Given the description of an element on the screen output the (x, y) to click on. 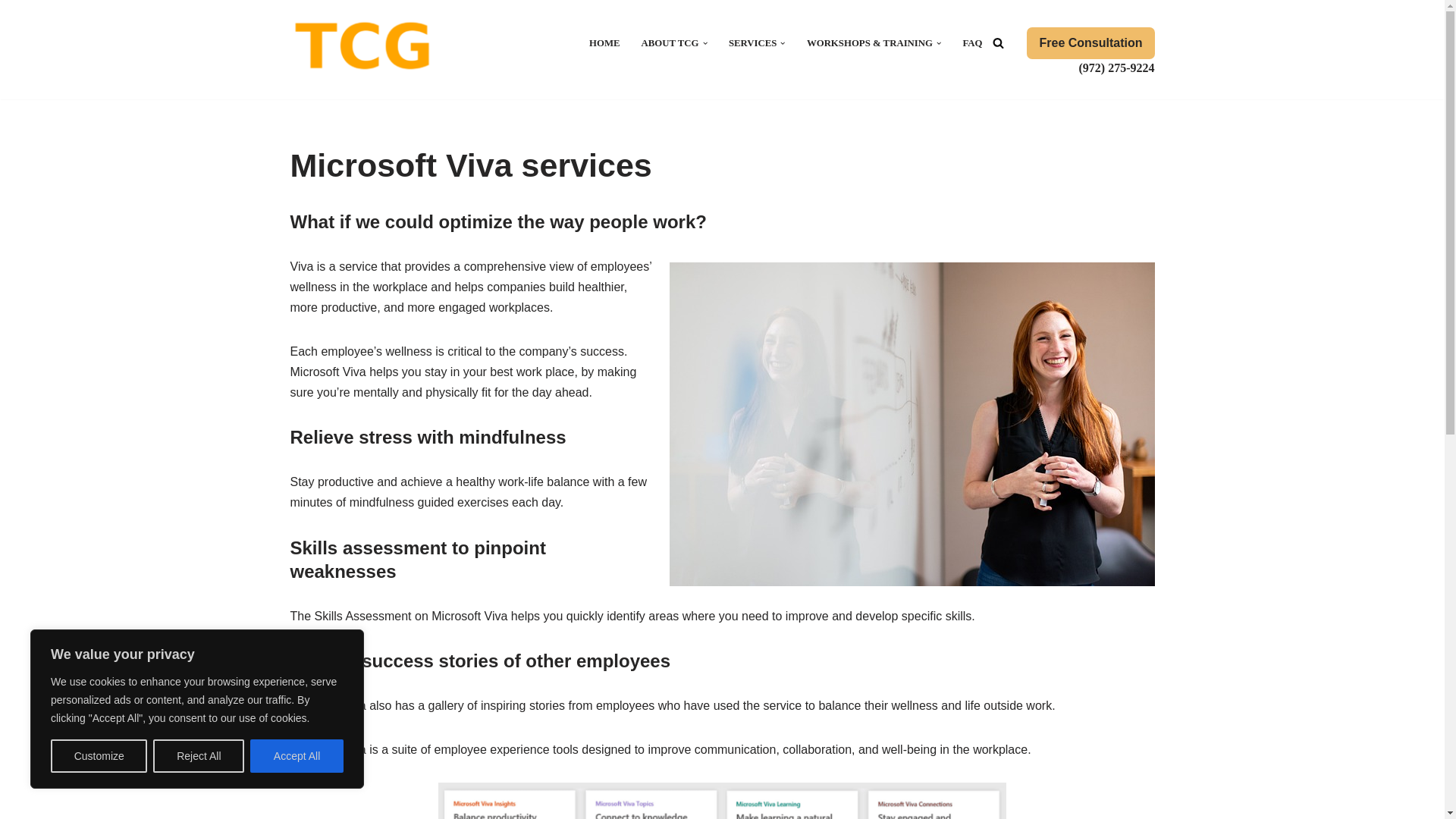
Skip to content (11, 31)
Reject All (198, 756)
SERVICES (753, 42)
ABOUT TCG (670, 42)
HOME (604, 42)
Microsoft Viva services 2 (722, 800)
Accept All (296, 756)
Customize (98, 756)
